Given the description of an element on the screen output the (x, y) to click on. 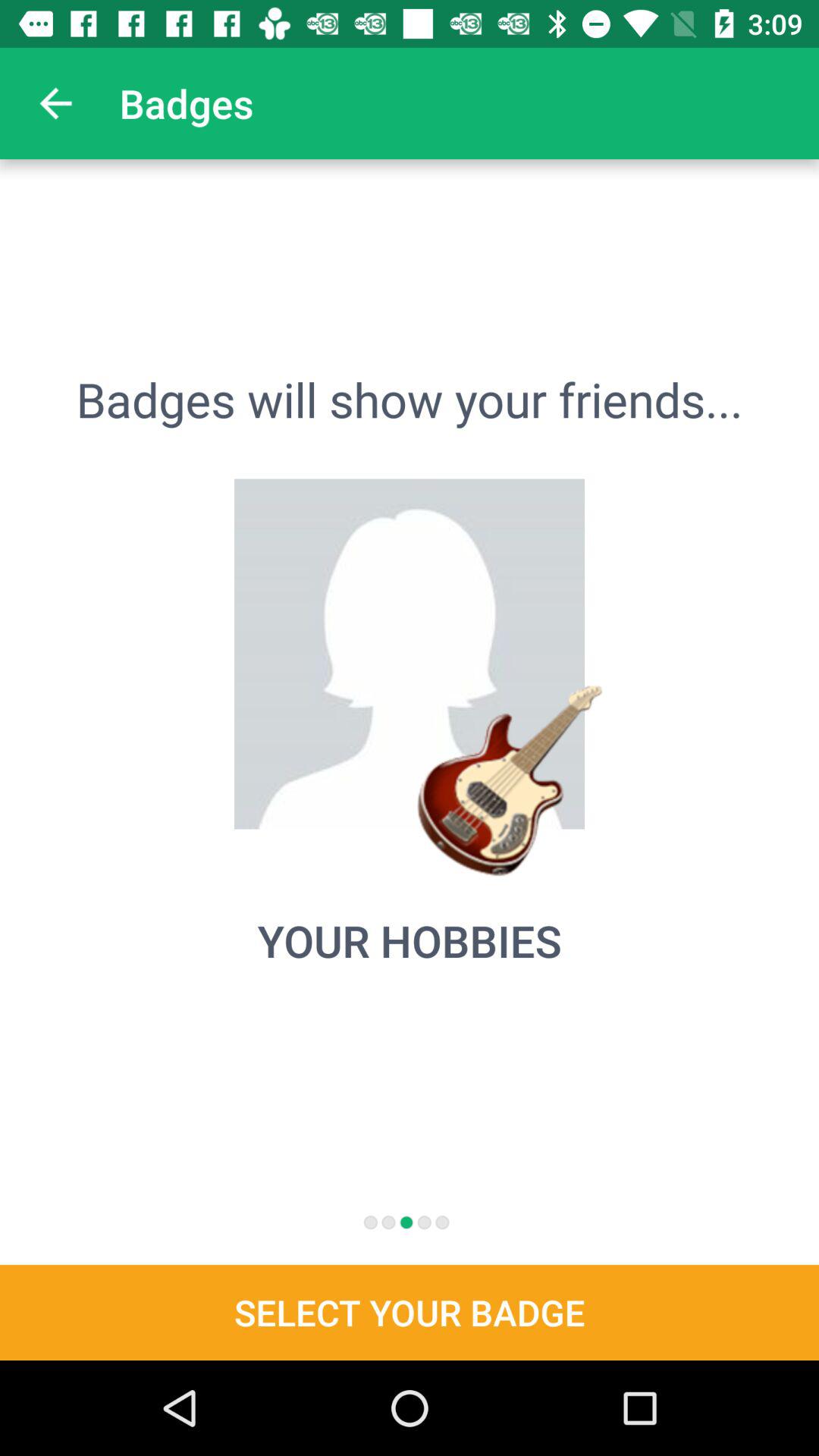
select icon to the left of badges app (55, 103)
